Given the description of an element on the screen output the (x, y) to click on. 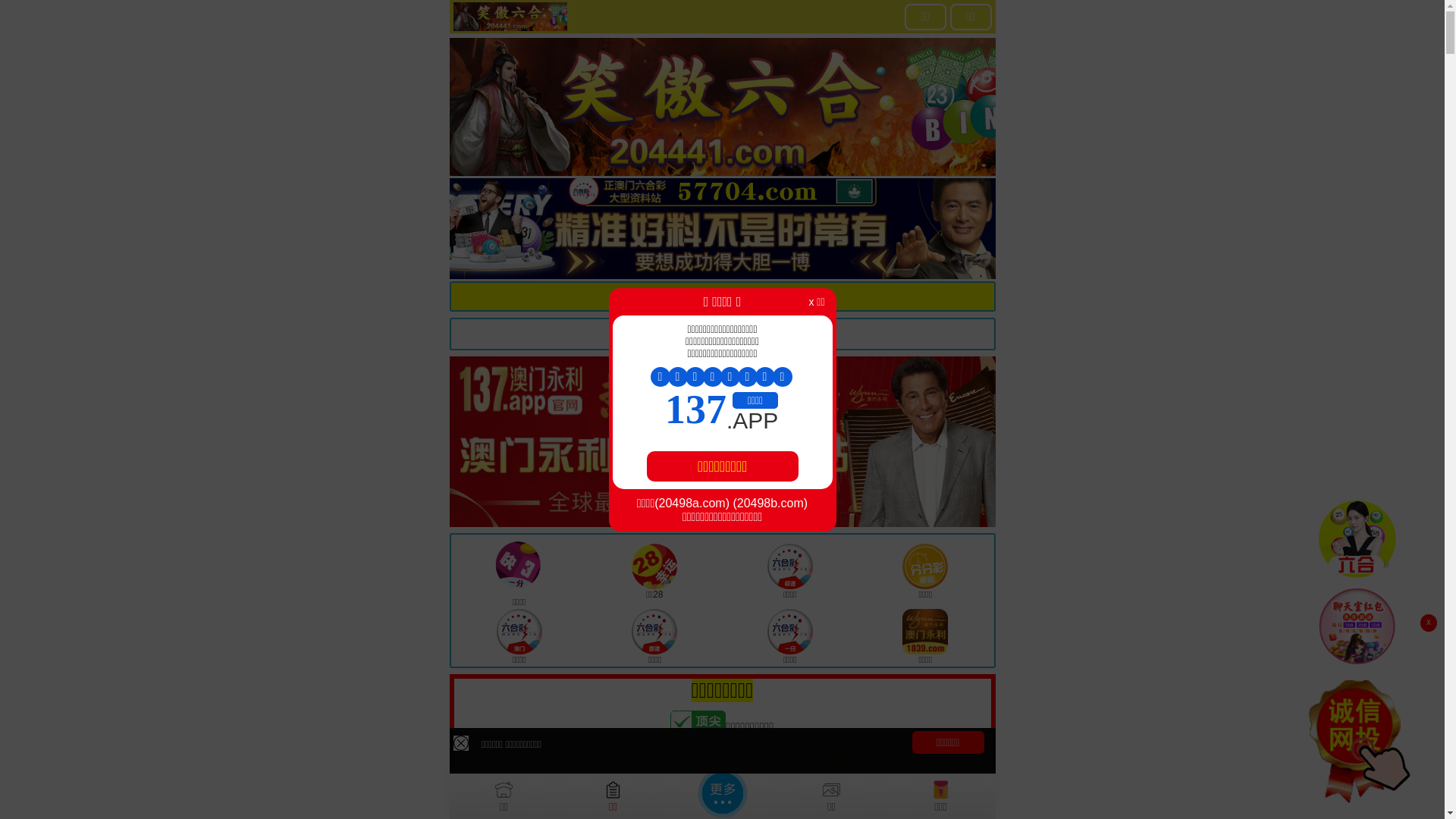
x Element type: text (1428, 622)
